Given the description of an element on the screen output the (x, y) to click on. 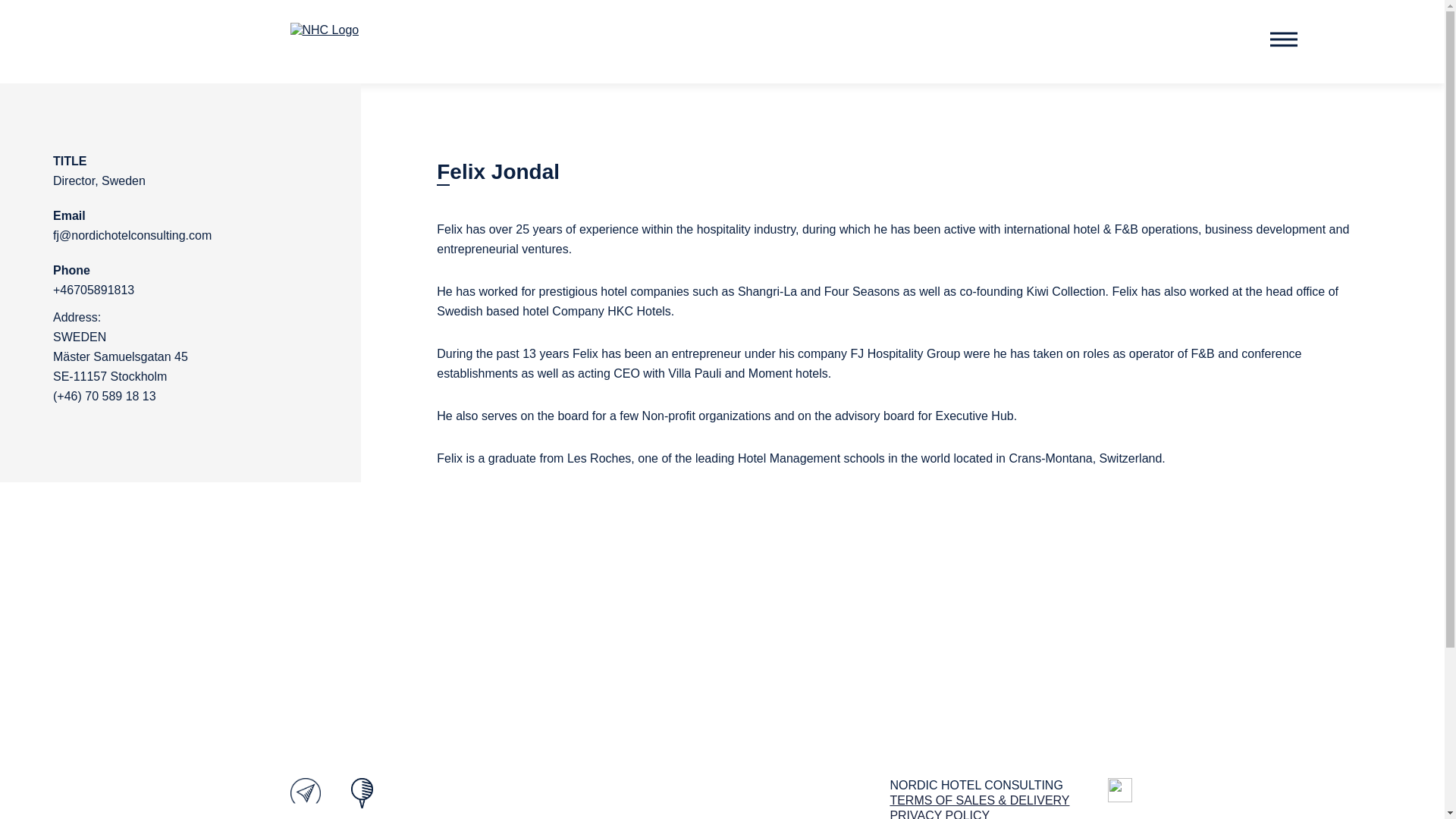
PRIVACY POLICY (939, 814)
Menu (1283, 39)
